Given the description of an element on the screen output the (x, y) to click on. 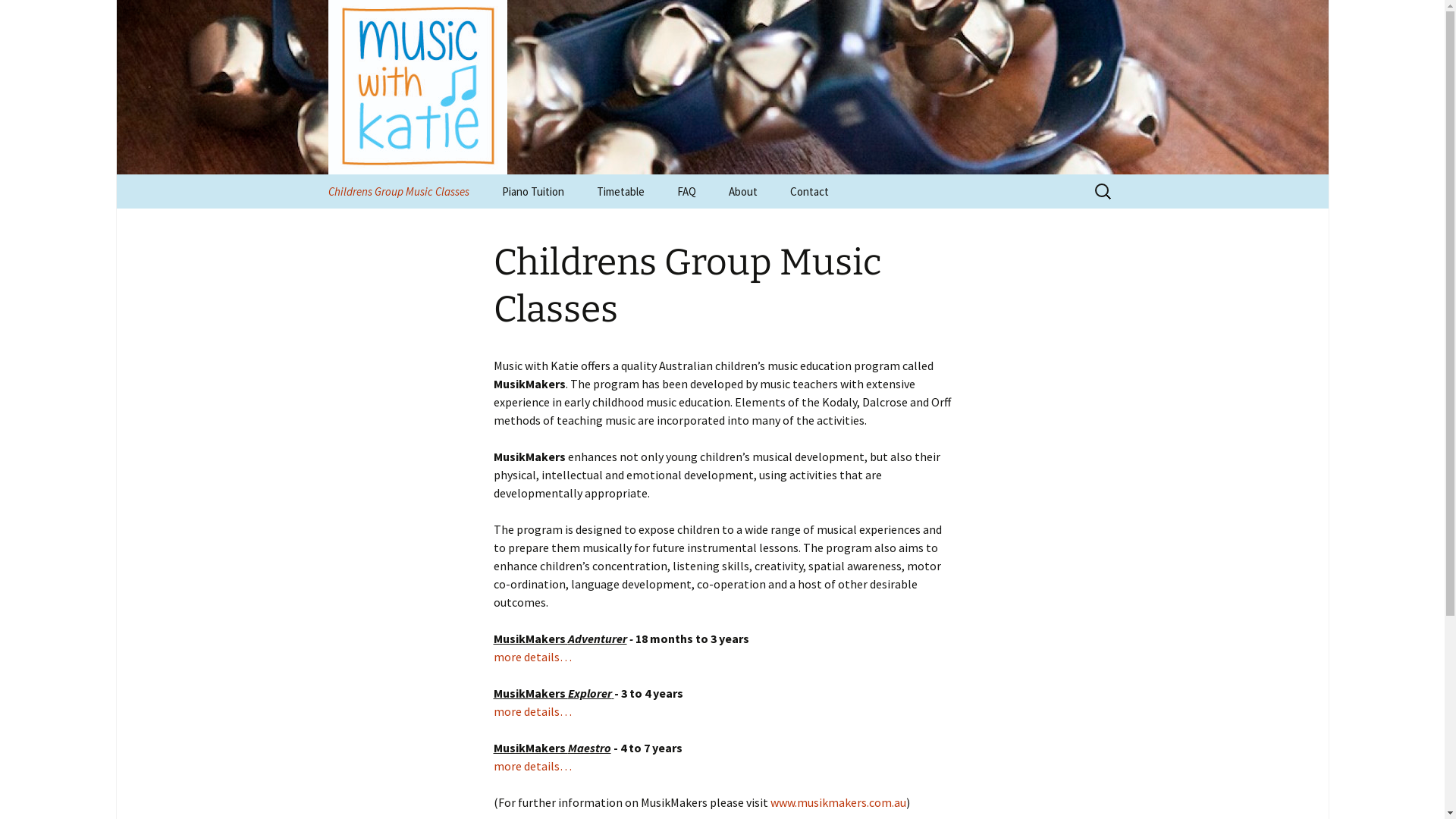
www.musikmakers.com.au Element type: text (838, 801)
Contact Element type: text (809, 191)
Timetable Element type: text (619, 191)
About Element type: text (741, 191)
Search Element type: text (34, 15)
Piano Tuition Element type: text (532, 191)
FAQ Element type: text (685, 191)
Search for: Element type: hover (1103, 191)
Search Element type: text (18, 16)
Childrens Group Music Classes Element type: text (397, 191)
Skip to content Element type: text (352, 183)
Music Tuition for Children Element type: text (721, 87)
